Given the description of an element on the screen output the (x, y) to click on. 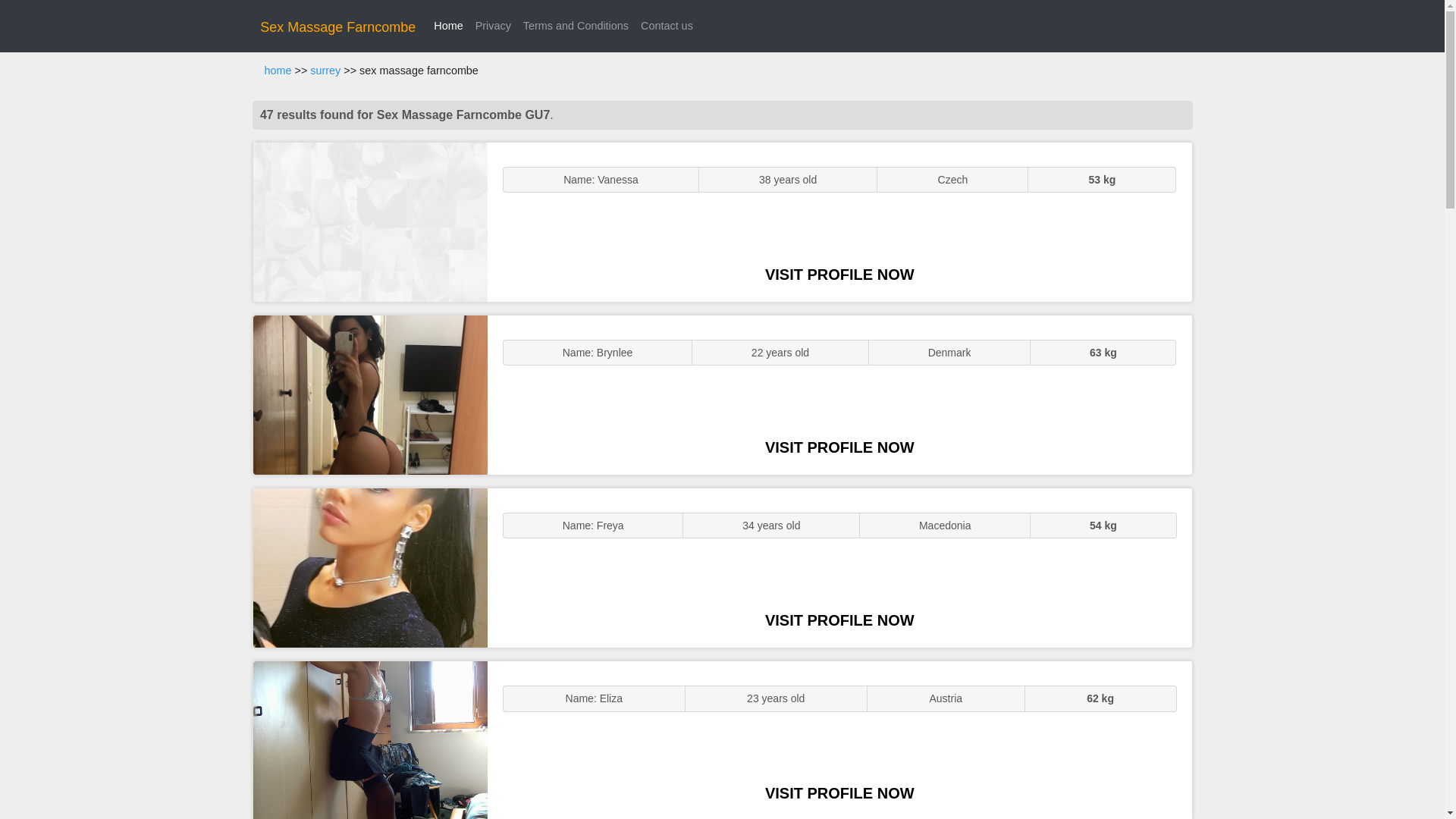
Sluts (370, 739)
VISIT PROFILE NOW (839, 792)
VISIT PROFILE NOW (839, 619)
Privacy (492, 25)
 ENGLISH STUNNER (370, 222)
home (277, 70)
surrey (325, 70)
GFE (370, 395)
Contact us (666, 25)
VISIT PROFILE NOW (839, 274)
VISIT PROFILE NOW (839, 446)
Terms and Conditions (575, 25)
Sex Massage Farncombe (337, 27)
Sexy (370, 567)
